Given the description of an element on the screen output the (x, y) to click on. 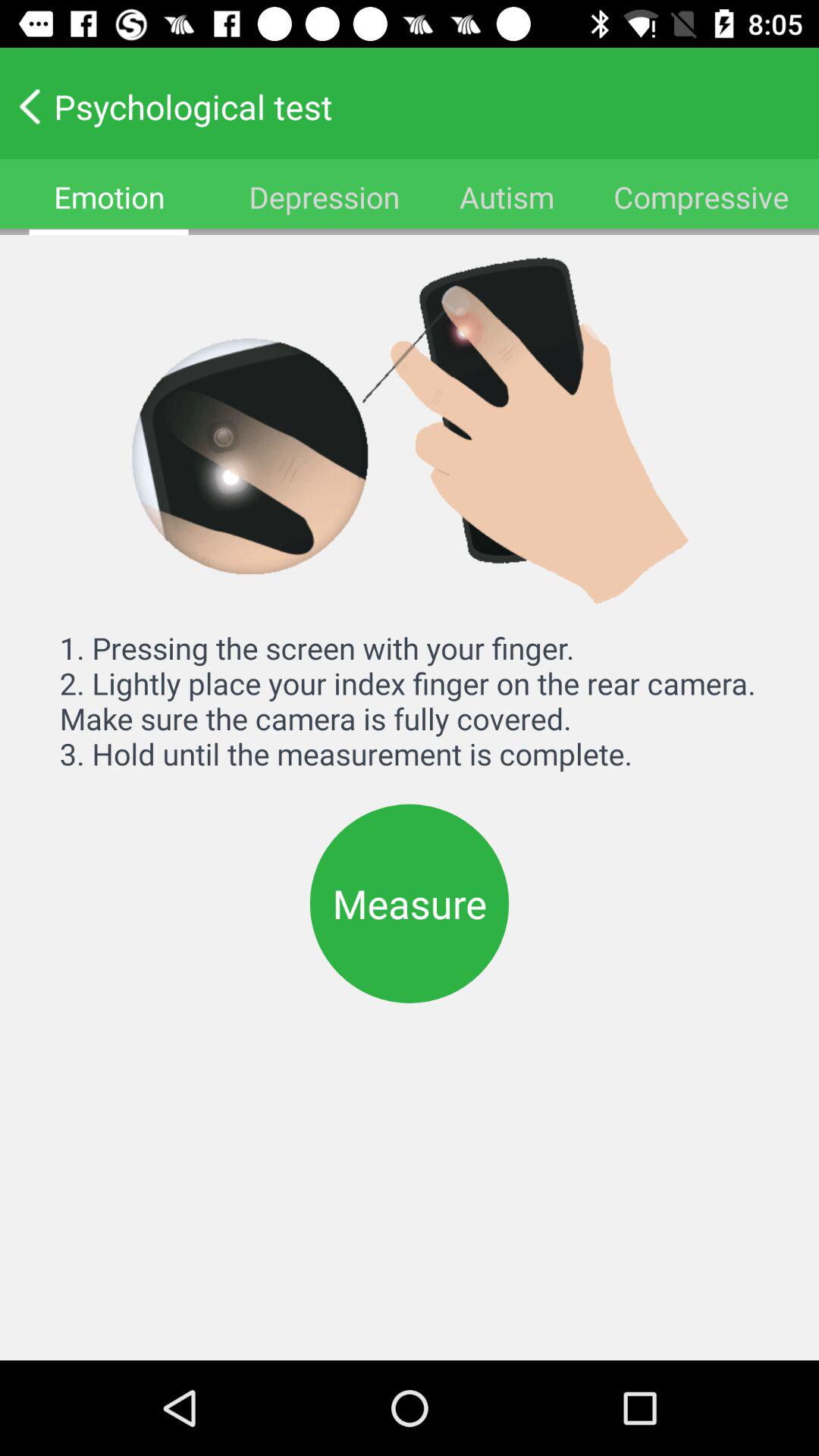
turn on icon below 1 pressing the (409, 903)
